Given the description of an element on the screen output the (x, y) to click on. 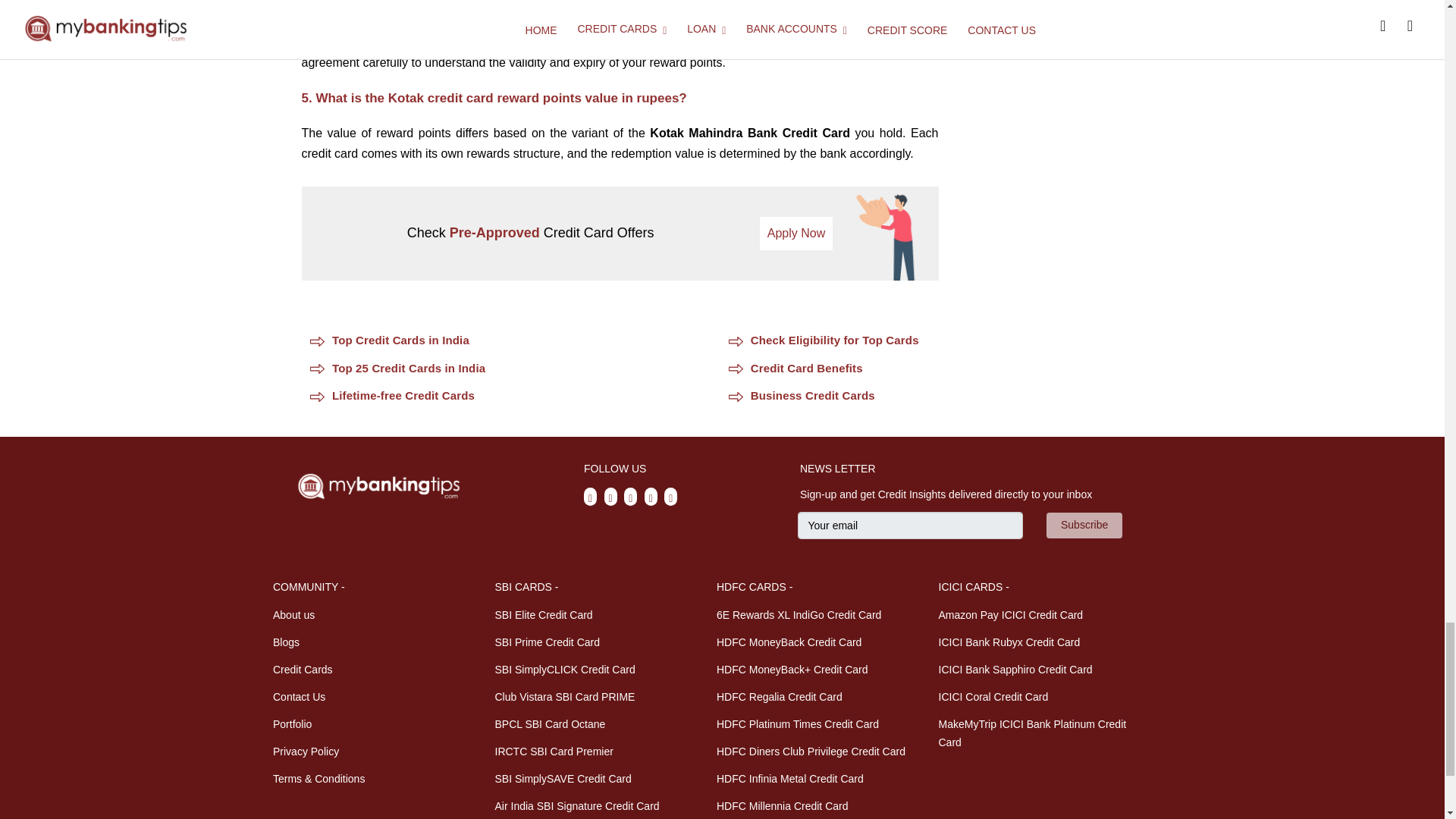
Blog (286, 642)
Club Vistara SBI Card PRIME (564, 696)
SBI SimplyCLICK Credit Card (564, 669)
Portfolio (292, 724)
About us (293, 614)
Credit Cards (303, 669)
SBI Prime Credit Card (546, 642)
mybankingtips (379, 486)
Contact Us (298, 696)
Contact Us (319, 778)
